Given the description of an element on the screen output the (x, y) to click on. 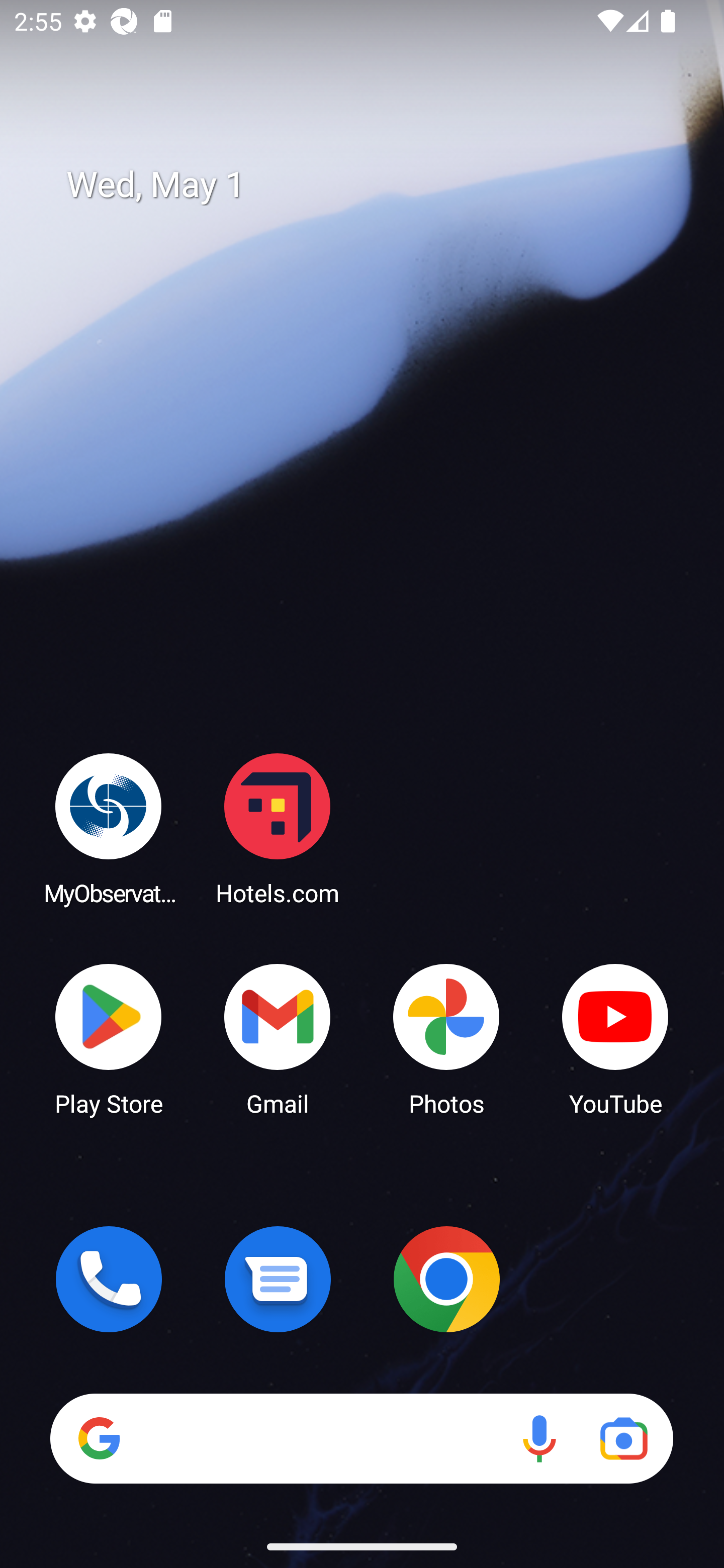
Wed, May 1 (375, 184)
MyObservatory (108, 828)
Hotels.com (277, 828)
Play Store (108, 1038)
Gmail (277, 1038)
Photos (445, 1038)
YouTube (615, 1038)
Phone (108, 1279)
Messages (277, 1279)
Chrome (446, 1279)
Search Voice search Google Lens (361, 1438)
Voice search (539, 1438)
Google Lens (623, 1438)
